Given the description of an element on the screen output the (x, y) to click on. 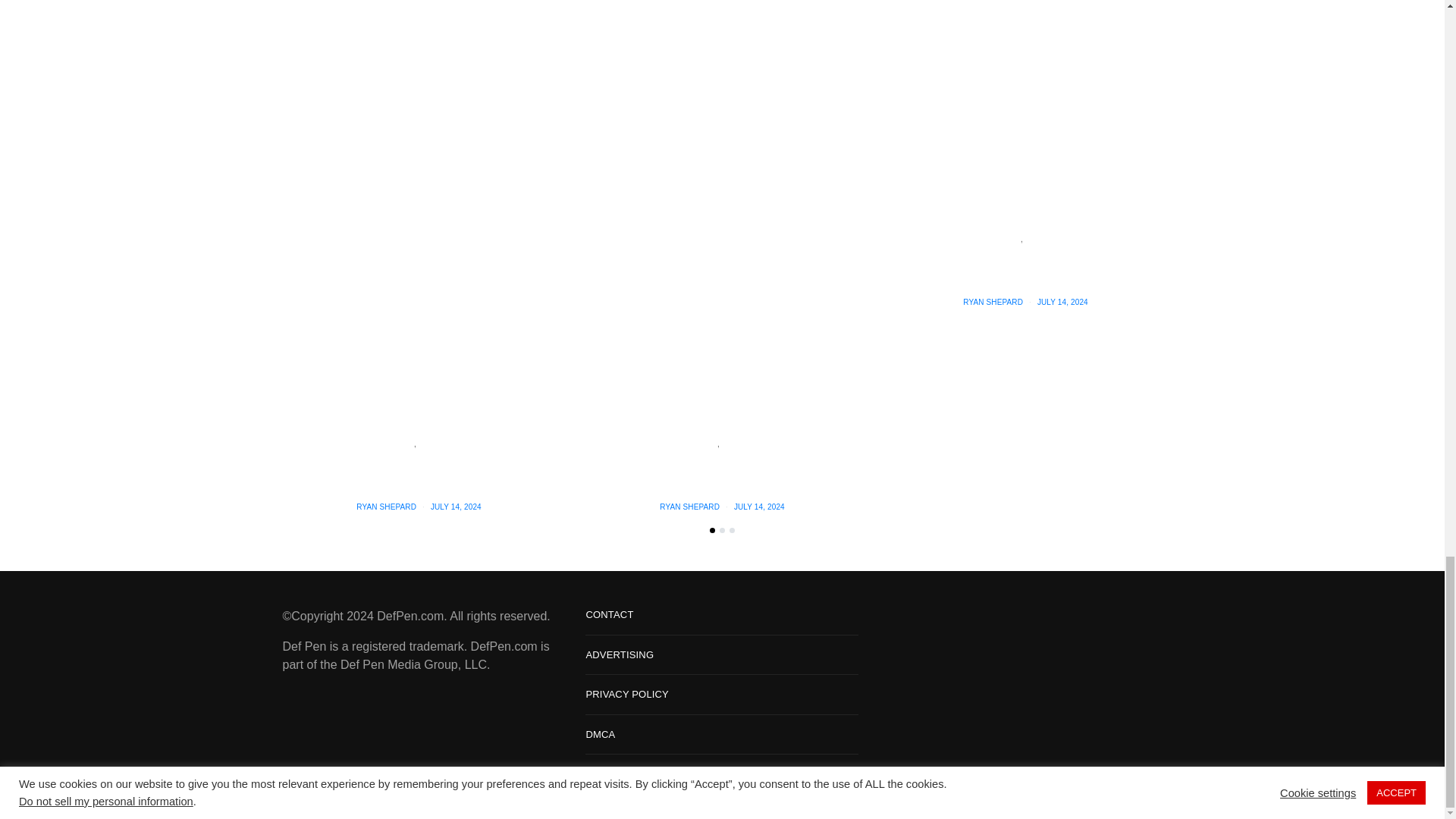
View all posts by Ryan Shepard (992, 302)
View all posts by Ryan Shepard (689, 506)
View all posts by Ryan Shepard (386, 506)
